Given the description of an element on the screen output the (x, y) to click on. 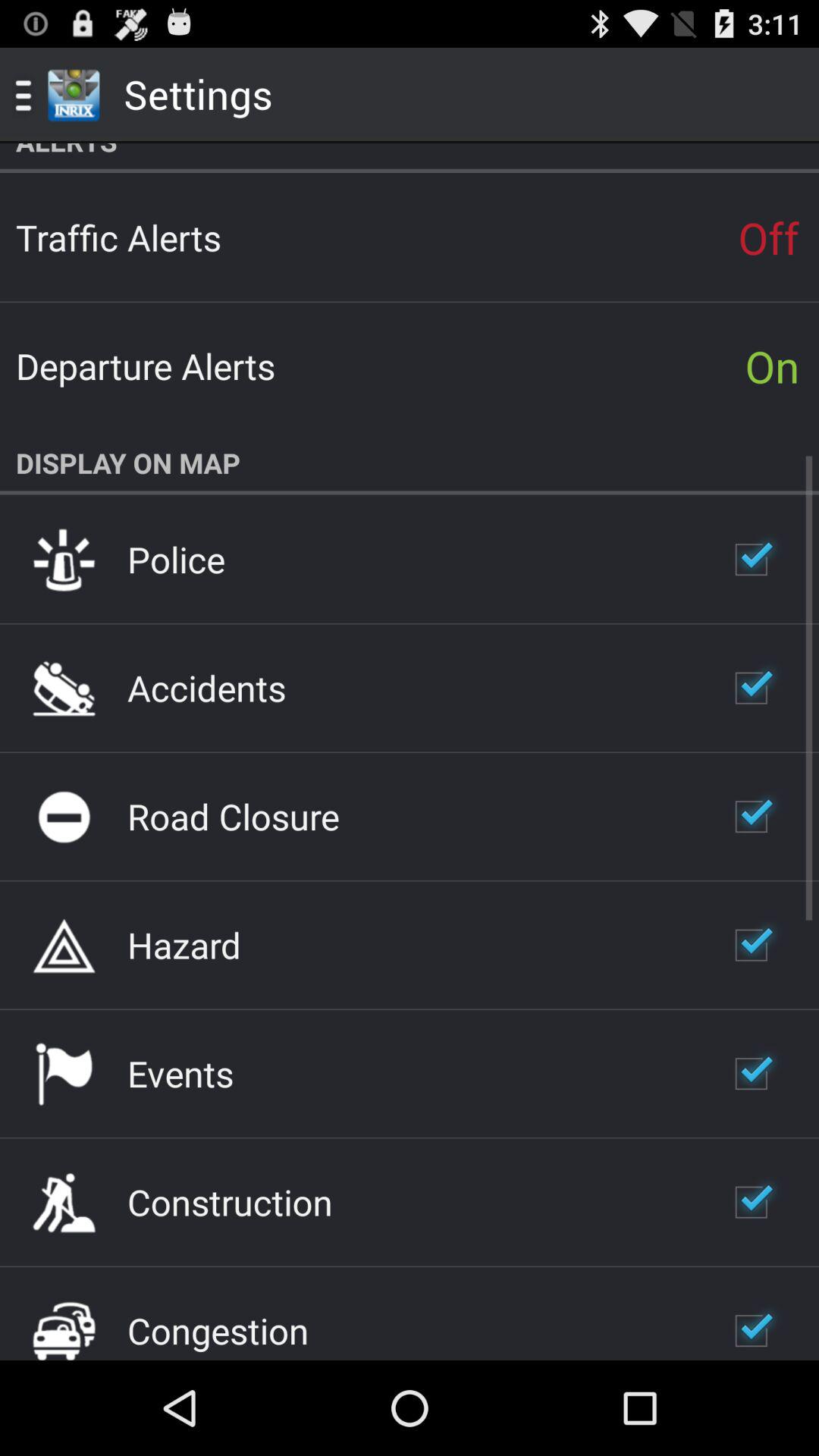
swipe to events app (180, 1073)
